Given the description of an element on the screen output the (x, y) to click on. 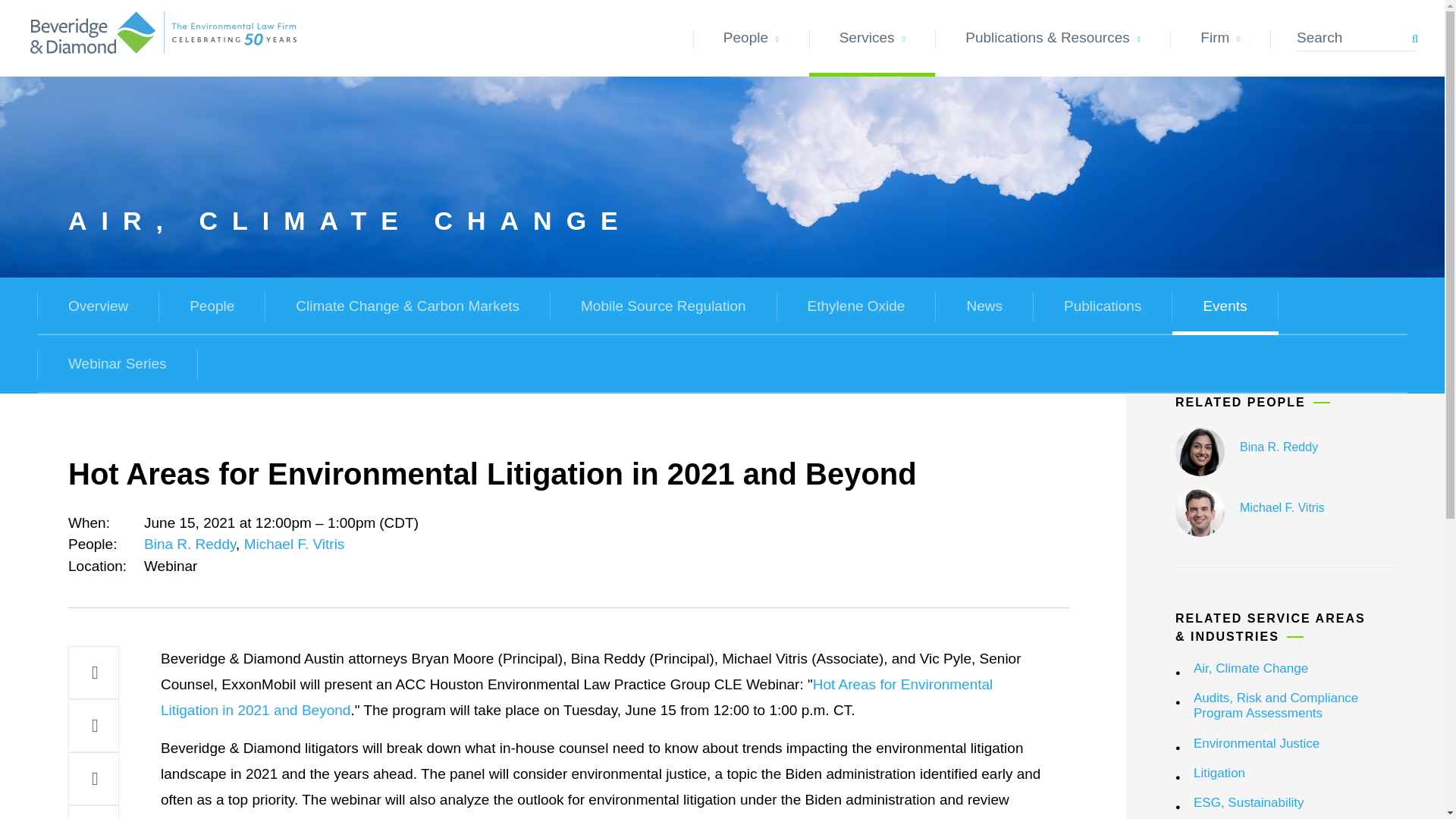
Firm (1219, 38)
Type a search keyword (1357, 38)
Mobile Source Regulation (663, 306)
People (751, 38)
Services (872, 38)
Overview (97, 306)
People (211, 306)
AIR, CLIMATE CHANGE (560, 220)
